Given the description of an element on the screen output the (x, y) to click on. 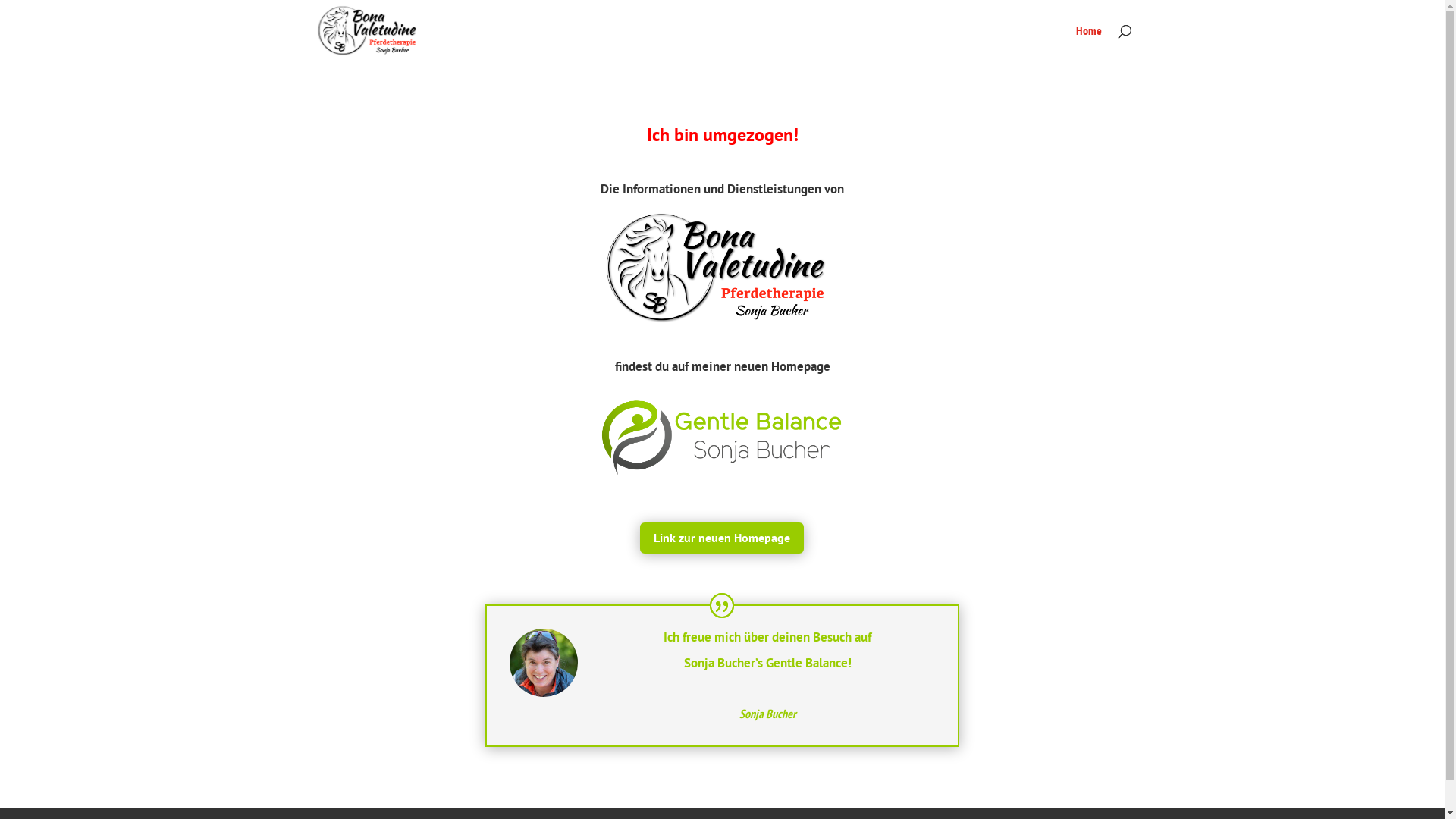
Home Element type: text (1088, 42)
Link zur neuen Homepage Element type: text (721, 537)
Logo_Gentle_Balance_600x193 Element type: hover (721, 437)
